Given the description of an element on the screen output the (x, y) to click on. 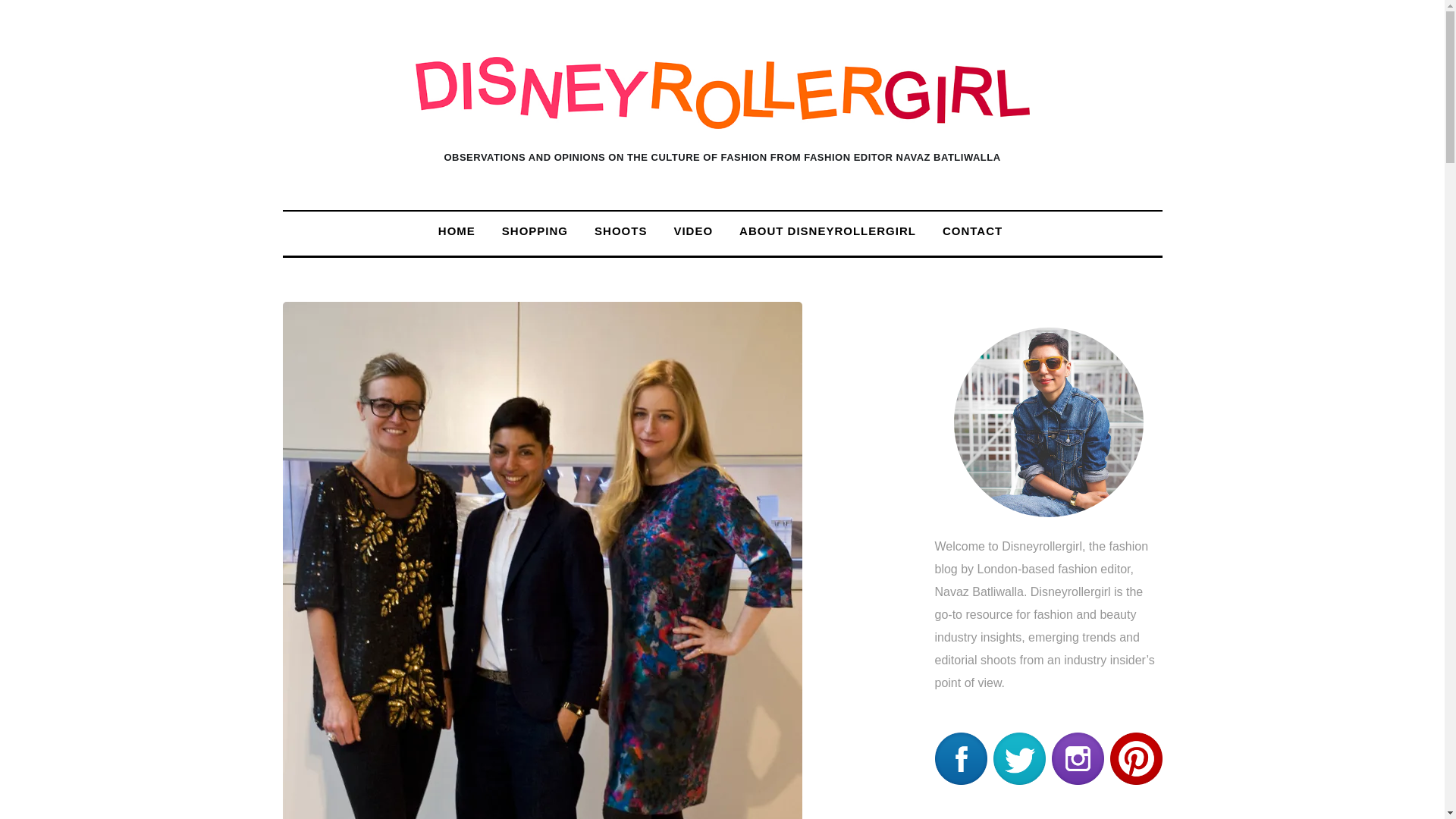
twitter (1018, 758)
DisneyRollerGirl (721, 115)
VIDEO (692, 230)
DisneyRollerGirl (721, 92)
fb (960, 758)
instagram (1077, 758)
CONTACT (972, 230)
SHOPPING (534, 230)
ABOUT DISNEYROLLERGIRL (827, 230)
SHOOTS (620, 230)
